Given the description of an element on the screen output the (x, y) to click on. 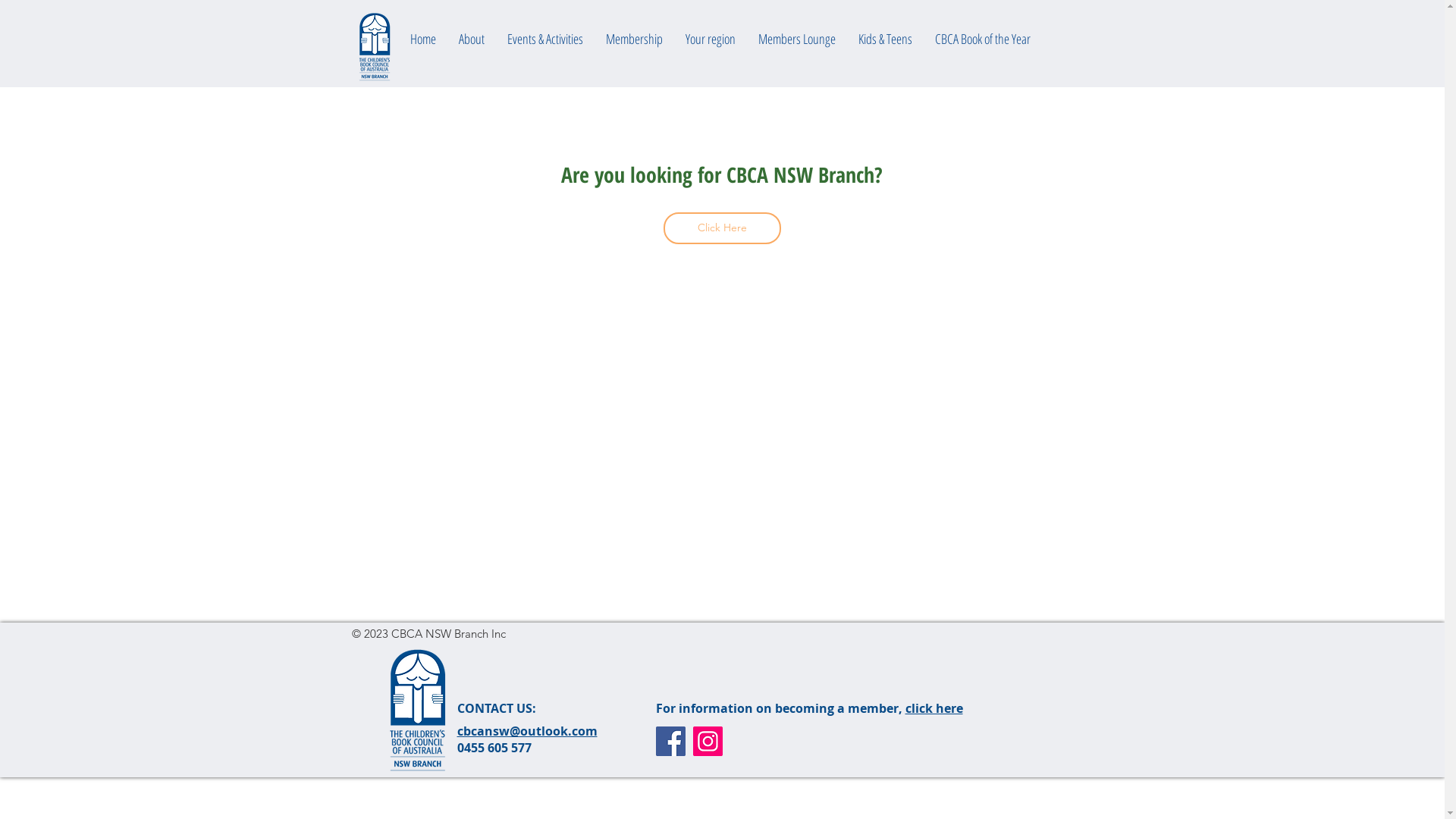
CBCA Book of the Year Element type: text (982, 38)
Kids & Teens Element type: text (884, 38)
Home Element type: text (422, 38)
Members Lounge Element type: text (796, 38)
About Element type: text (471, 38)
cbcansw@outlook.com Element type: text (526, 730)
Click Here Element type: text (721, 228)
Your region Element type: text (709, 38)
Events & Activities Element type: text (544, 38)
Membership Element type: text (634, 38)
click here Element type: text (934, 707)
